Given the description of an element on the screen output the (x, y) to click on. 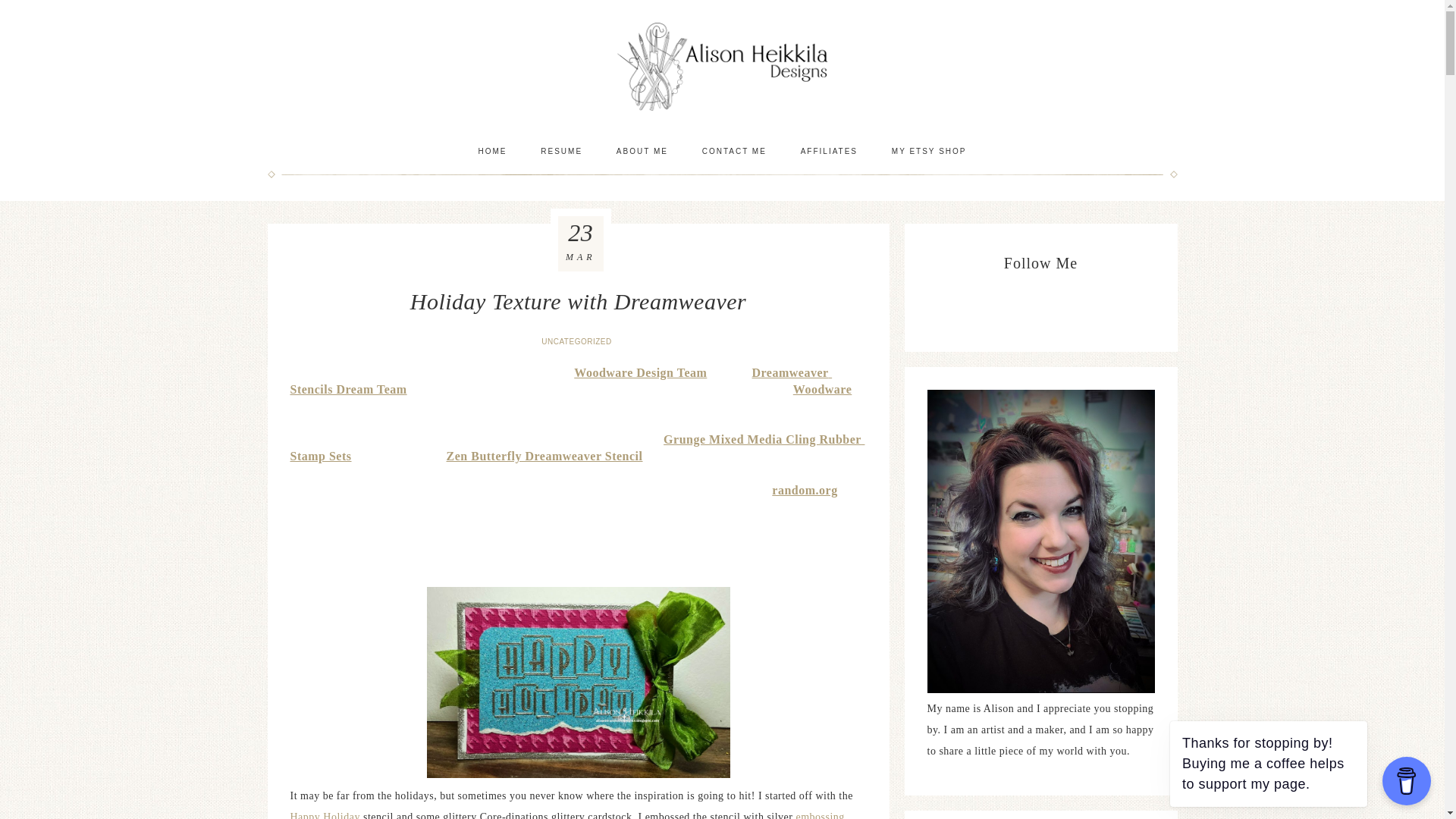
AFFILIATES (829, 151)
Woodware (822, 389)
MY ETSY SHOP (928, 151)
RESUME (560, 151)
Woodware Design Team (639, 373)
ALISON HEIKKILA DESIGNS (722, 65)
Dreamweaver Stencils Dream Team (560, 381)
CONTACT ME (734, 151)
Grunge Mixed Media Cling Rubber Stamp Sets (576, 448)
embossing paste (566, 815)
UNCATEGORIZED (577, 341)
random.org (804, 490)
HOME (492, 151)
ABOUT ME (641, 151)
Happy Holiday (324, 815)
